Given the description of an element on the screen output the (x, y) to click on. 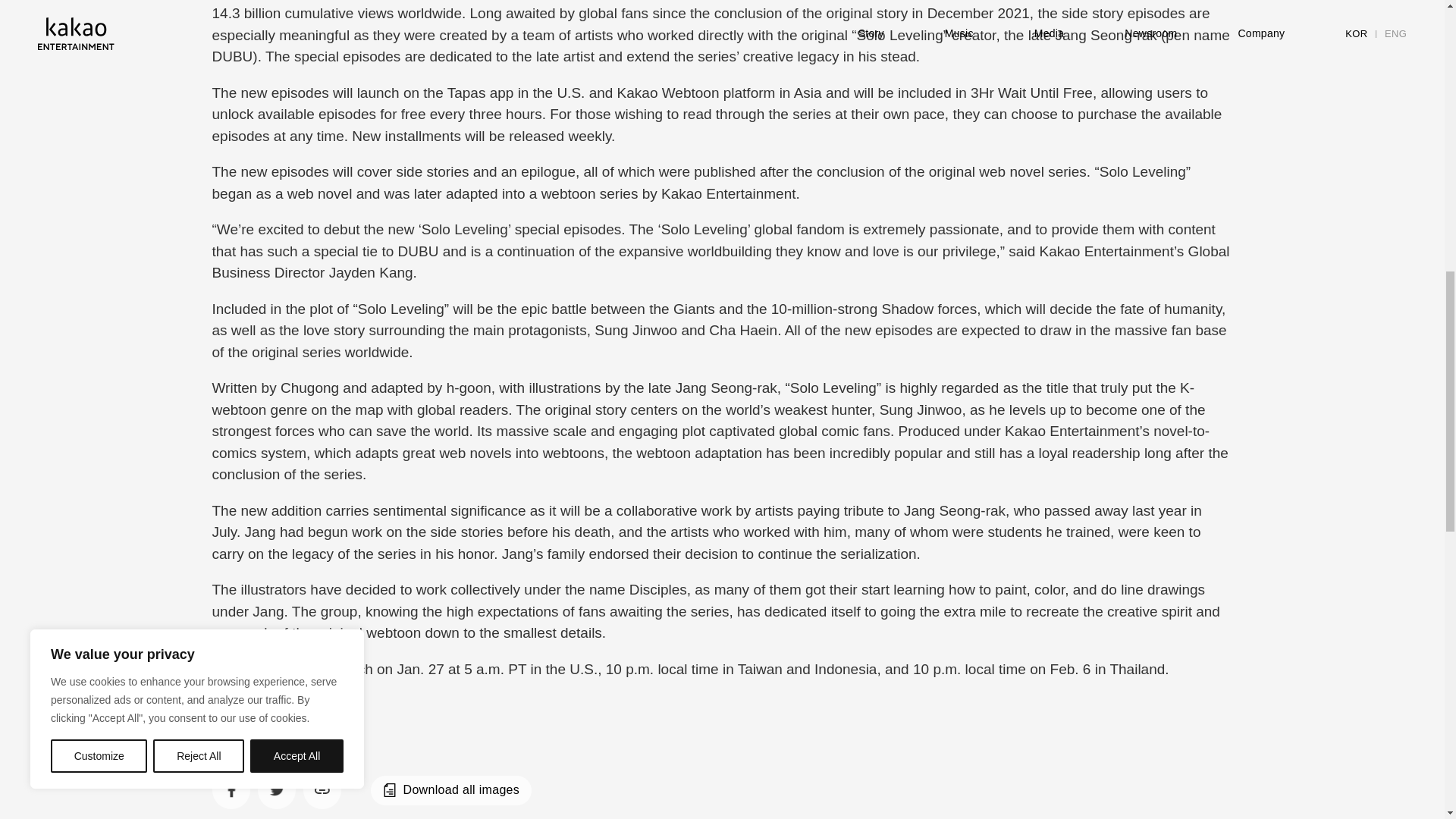
Download all images (451, 790)
